Given the description of an element on the screen output the (x, y) to click on. 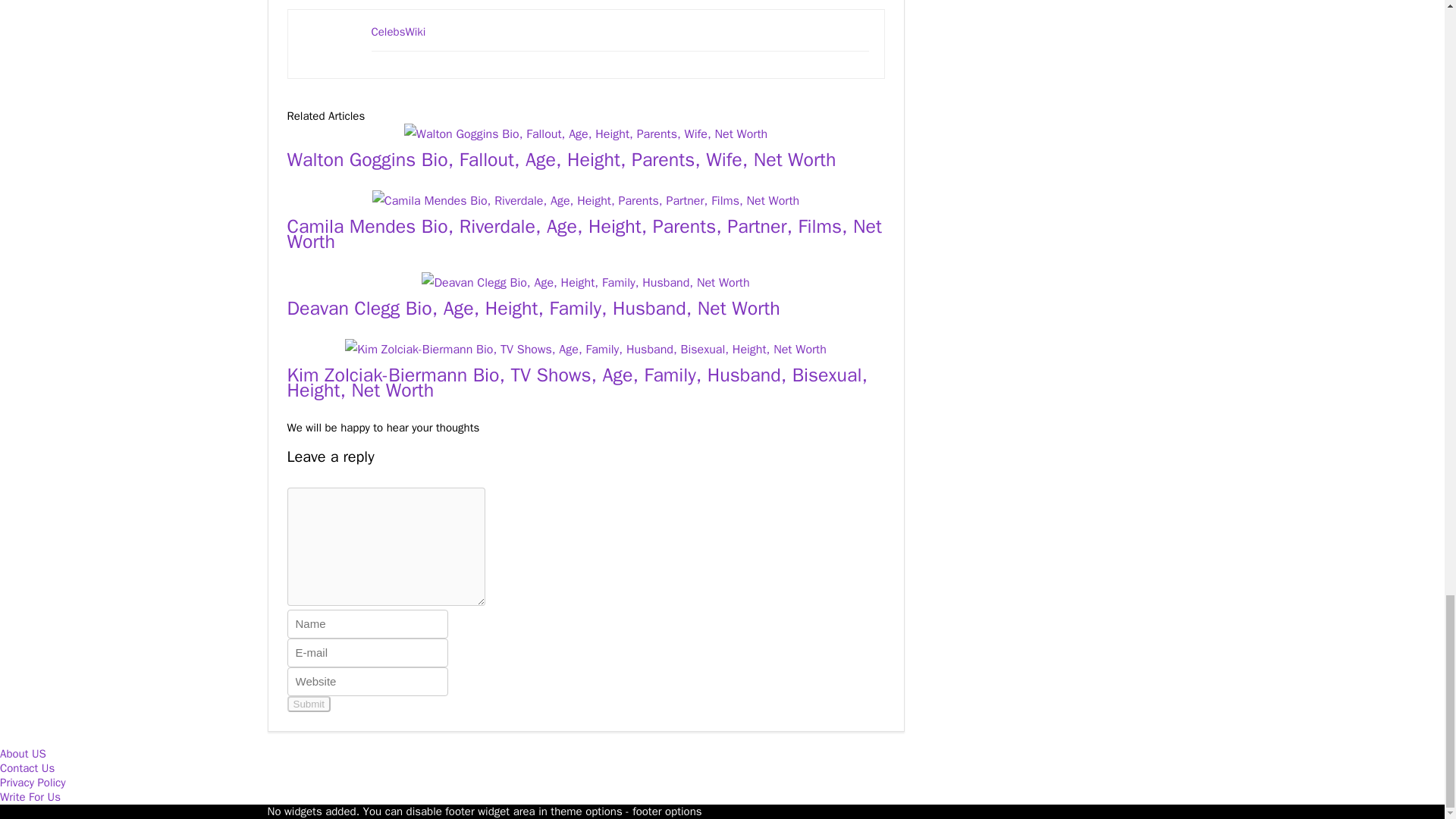
Submit (308, 703)
Deavan Clegg Bio, Age, Height, Family, Husband, Net Worth (532, 308)
Submit (308, 703)
CelebsWiki (398, 31)
